Given the description of an element on the screen output the (x, y) to click on. 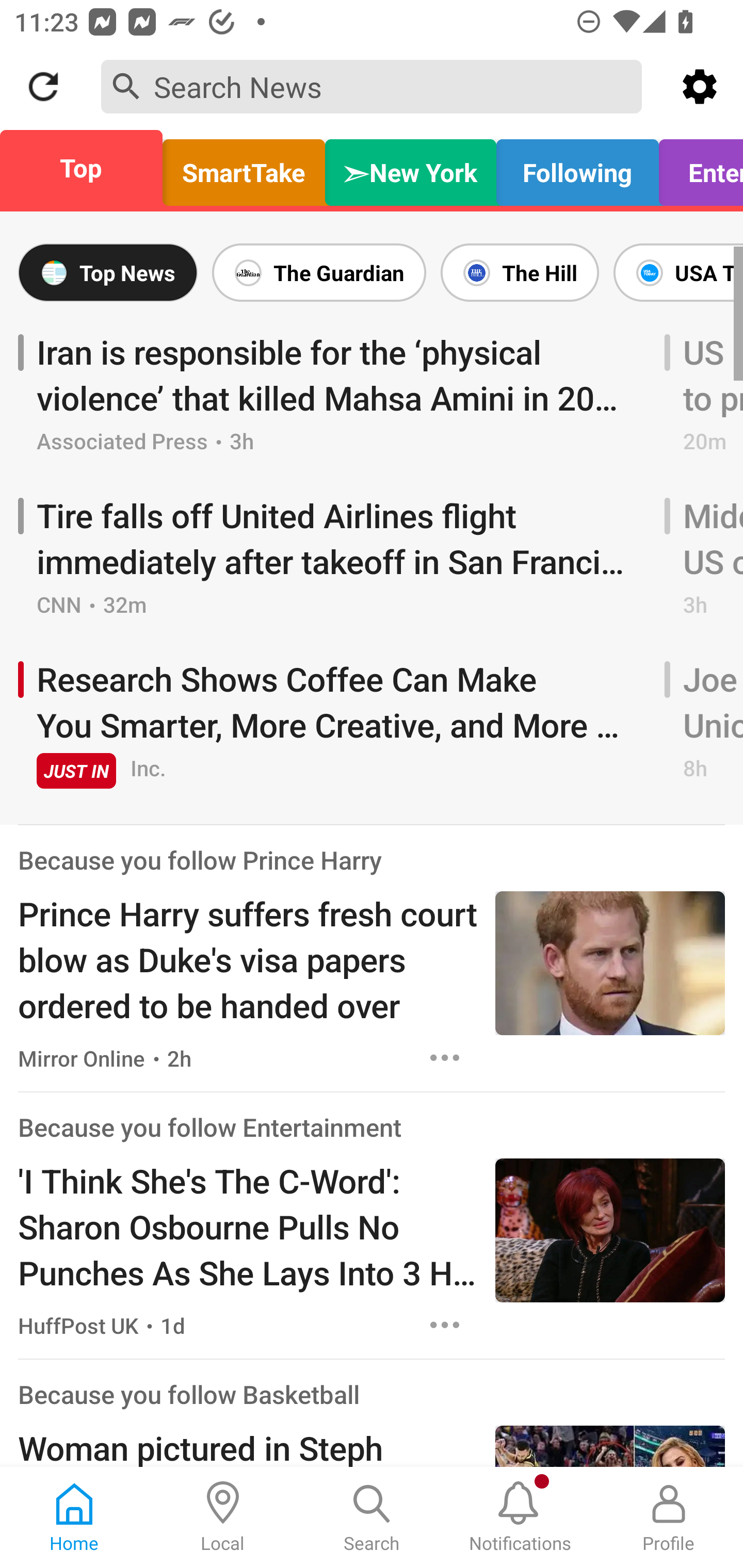
Search News (371, 85)
Top (86, 167)
SmartTake (243, 167)
➣New York (410, 167)
Following (577, 167)
The Guardian (319, 272)
The Hill (519, 272)
JUST IN (75, 770)
Because you follow Prince Harry (199, 859)
Options (444, 1057)
Because you follow Entertainment (209, 1127)
Options (444, 1324)
Because you follow Basketball (188, 1393)
Local (222, 1517)
Search (371, 1517)
Notifications, New notification Notifications (519, 1517)
Profile (668, 1517)
